Given the description of an element on the screen output the (x, y) to click on. 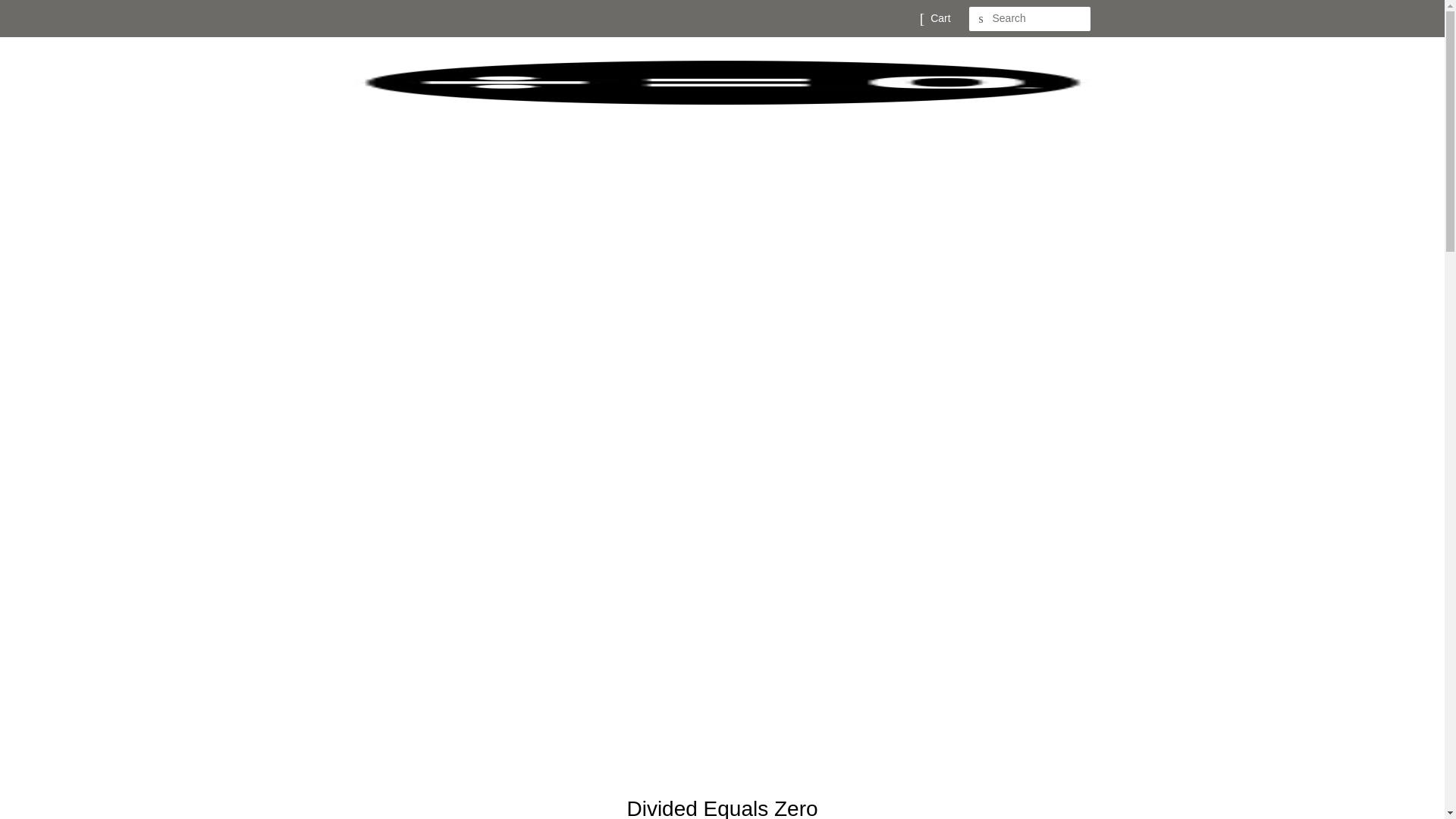
Search (980, 18)
Cart (940, 18)
